Given the description of an element on the screen output the (x, y) to click on. 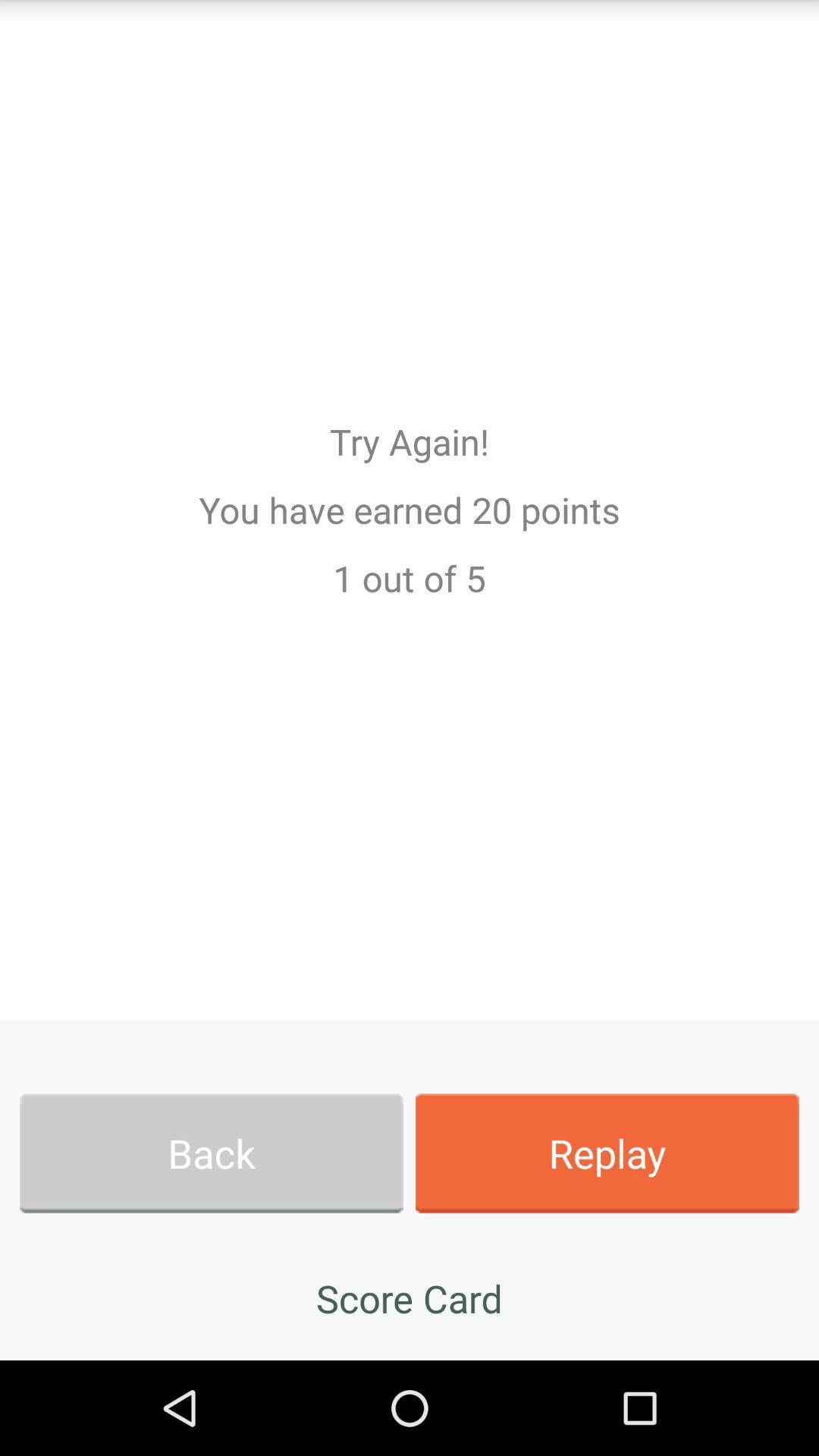
turn off the icon below 1 out of icon (211, 1153)
